Given the description of an element on the screen output the (x, y) to click on. 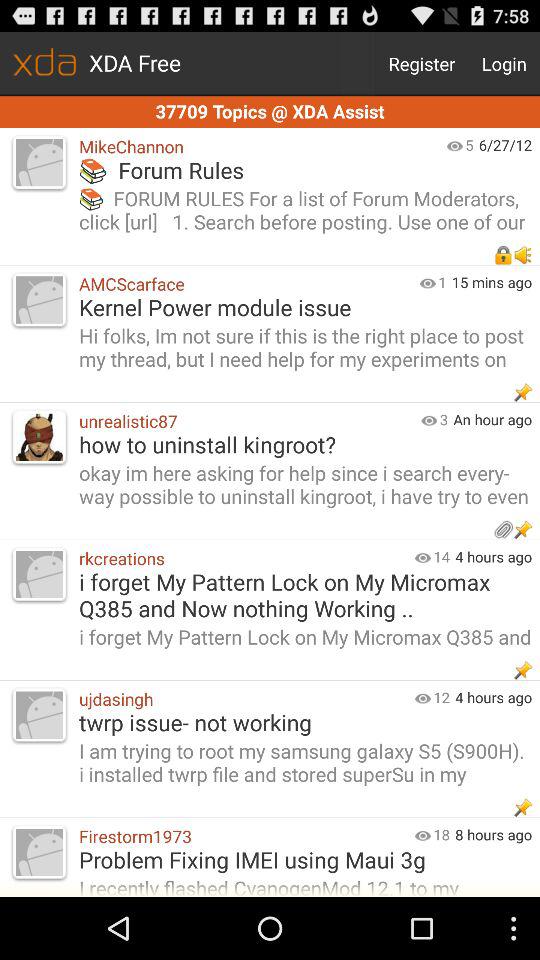
flip to the an hour ago item (496, 419)
